Given the description of an element on the screen output the (x, y) to click on. 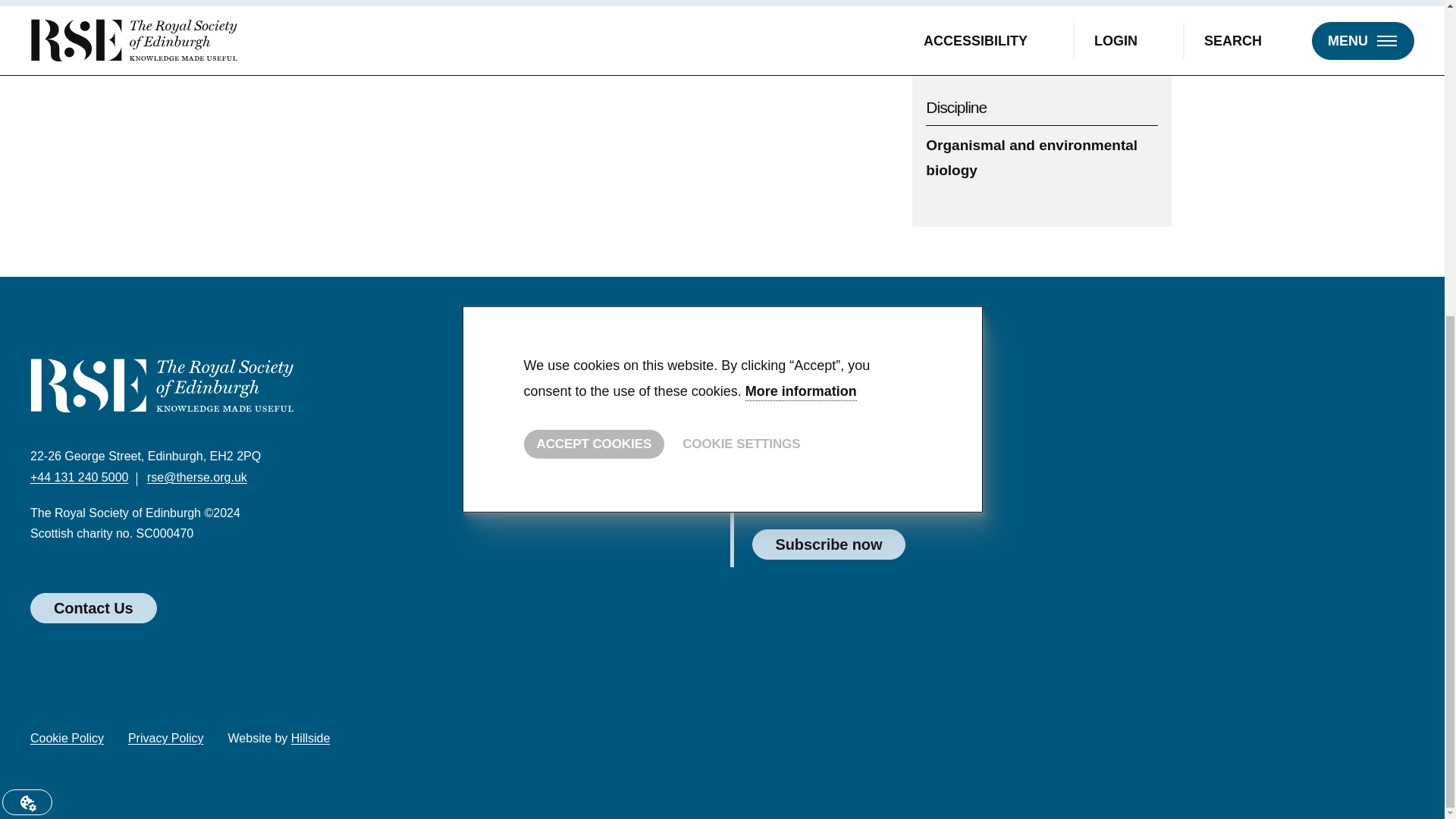
Visit our YouTube channel (875, 742)
Visit us on Instagram (919, 742)
Visit our Twitter account (743, 742)
Visit our Facebook page (787, 742)
Visit us on Linkedin (830, 742)
